Given the description of an element on the screen output the (x, y) to click on. 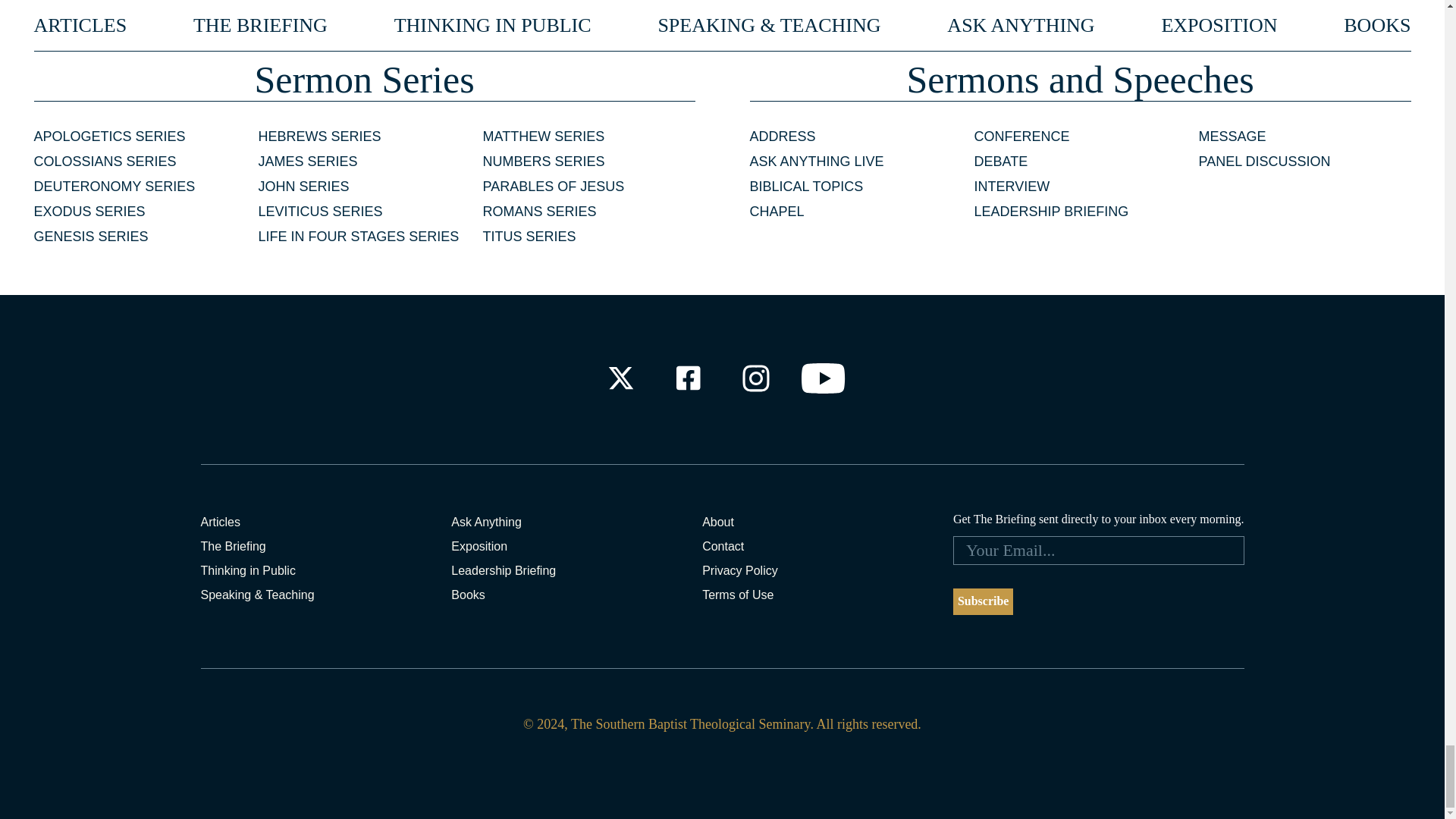
Subscribe (983, 601)
Check out our X Profile (620, 377)
Check out our Youtube Channel (822, 377)
Check out our Facebook Profile (687, 377)
Check out our Instagram Profile (755, 377)
